Given the description of an element on the screen output the (x, y) to click on. 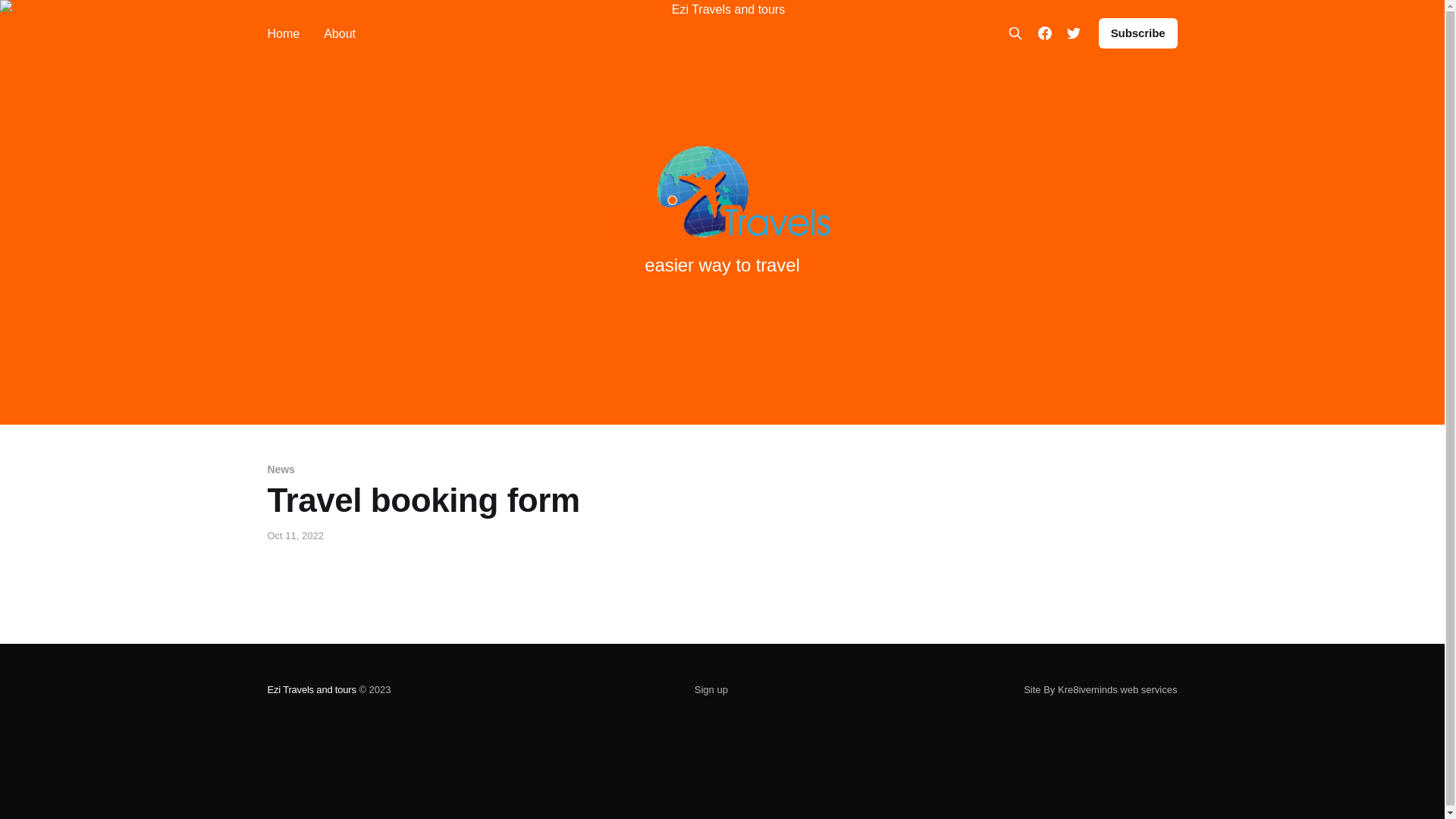
Site By Kre8iveminds web services Element type: text (1099, 689)
Ezi Travels and tours Element type: text (310, 689)
About Element type: text (339, 33)
Home Element type: text (282, 33)
Subscribe Element type: text (1137, 33)
Facebook Element type: hover (1044, 33)
News
Travel booking form Element type: text (564, 490)
Twitter Element type: hover (1073, 33)
Sign up Element type: text (711, 689)
